Given the description of an element on the screen output the (x, y) to click on. 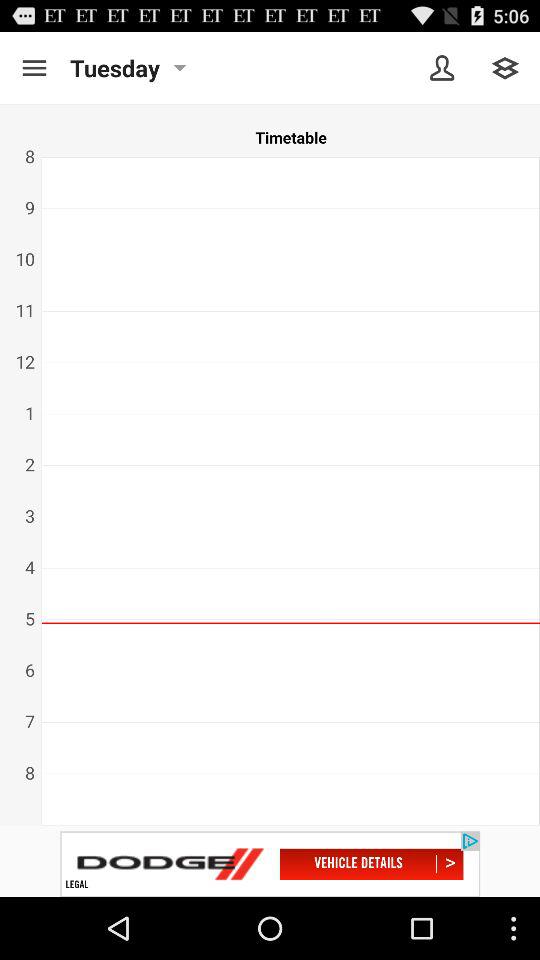
go to user profile (442, 68)
